Given the description of an element on the screen output the (x, y) to click on. 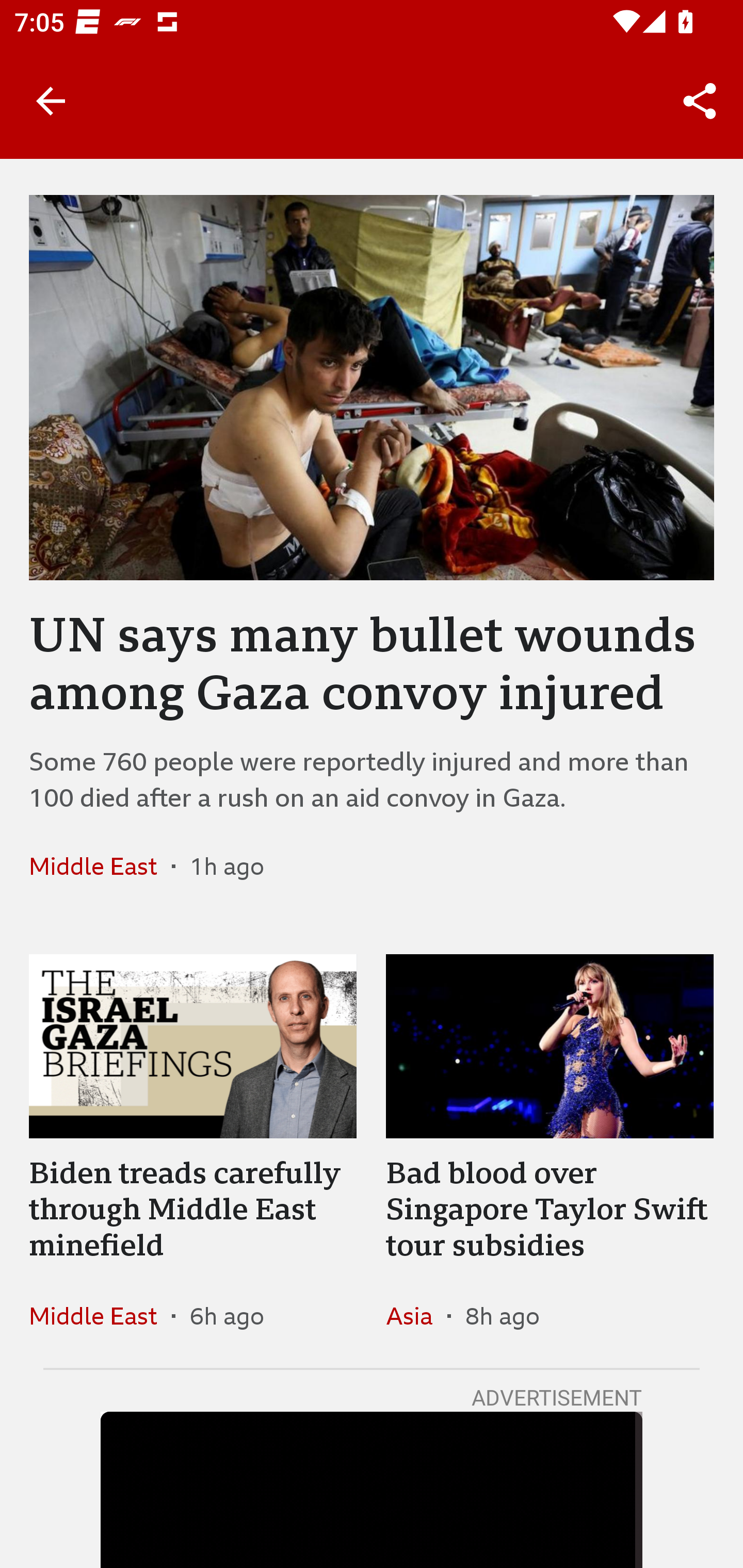
Back (50, 101)
Share (699, 101)
Middle East In the section Middle East (99, 865)
Middle East In the section Middle East (99, 1315)
Asia In the section Asia (416, 1315)
